Given the description of an element on the screen output the (x, y) to click on. 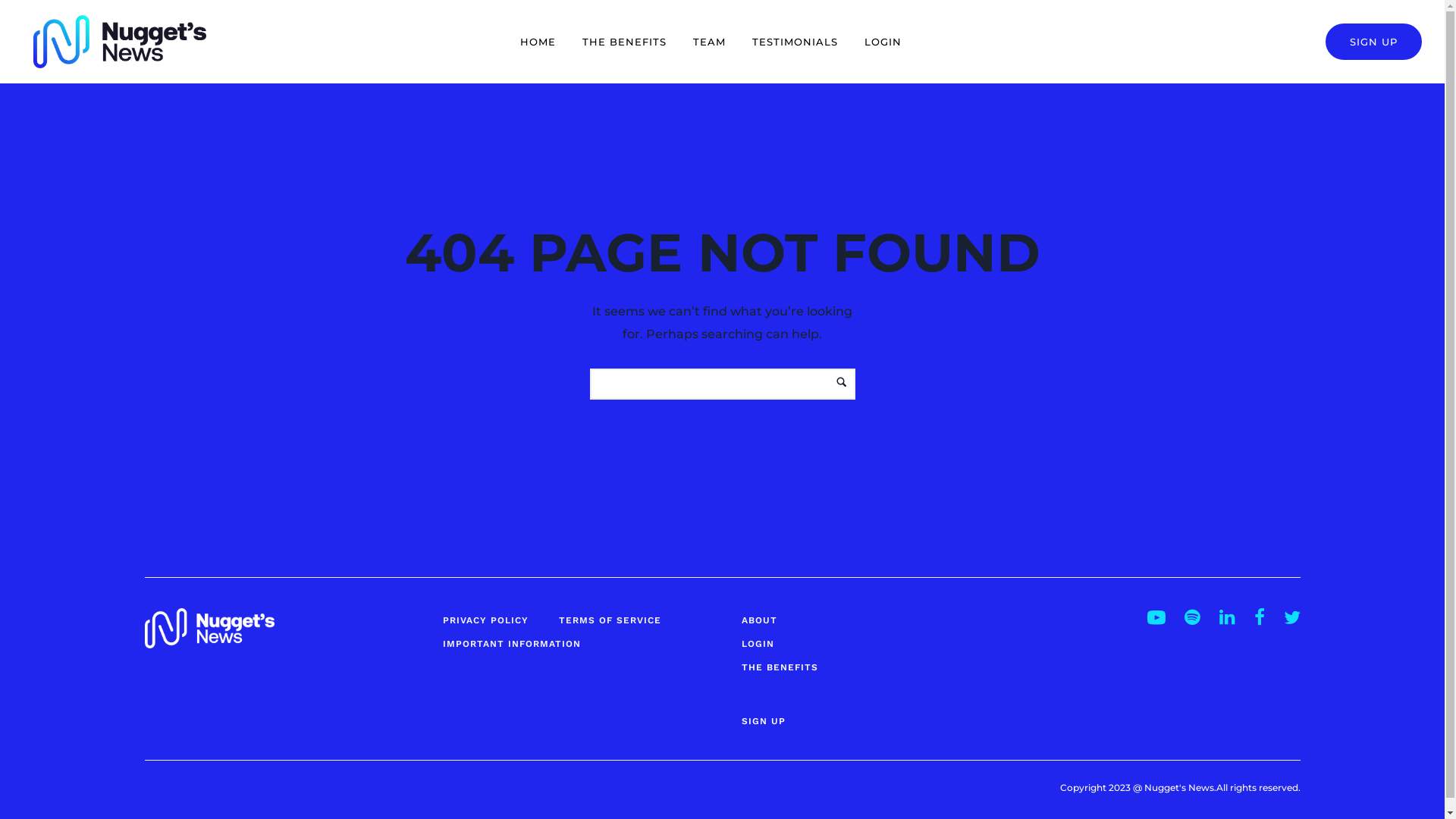
TESTIMONIALS Element type: text (794, 41)
LOGIN Element type: text (757, 643)
TEAM Element type: text (709, 41)
PRIVACY POLICY Element type: text (485, 619)
IMPORTANT INFORMATION Element type: text (511, 643)
HOME Element type: text (537, 41)
SIGN UP Element type: text (763, 720)
LOGIN Element type: text (882, 41)
THE BENEFITS Element type: text (779, 666)
nn-white Element type: hover (209, 628)
SIGN UP Element type: text (1373, 41)
ABOUT Element type: text (759, 619)
THE BENEFITS Element type: text (624, 41)
TERMS OF SERVICE Element type: text (609, 619)
